Given the description of an element on the screen output the (x, y) to click on. 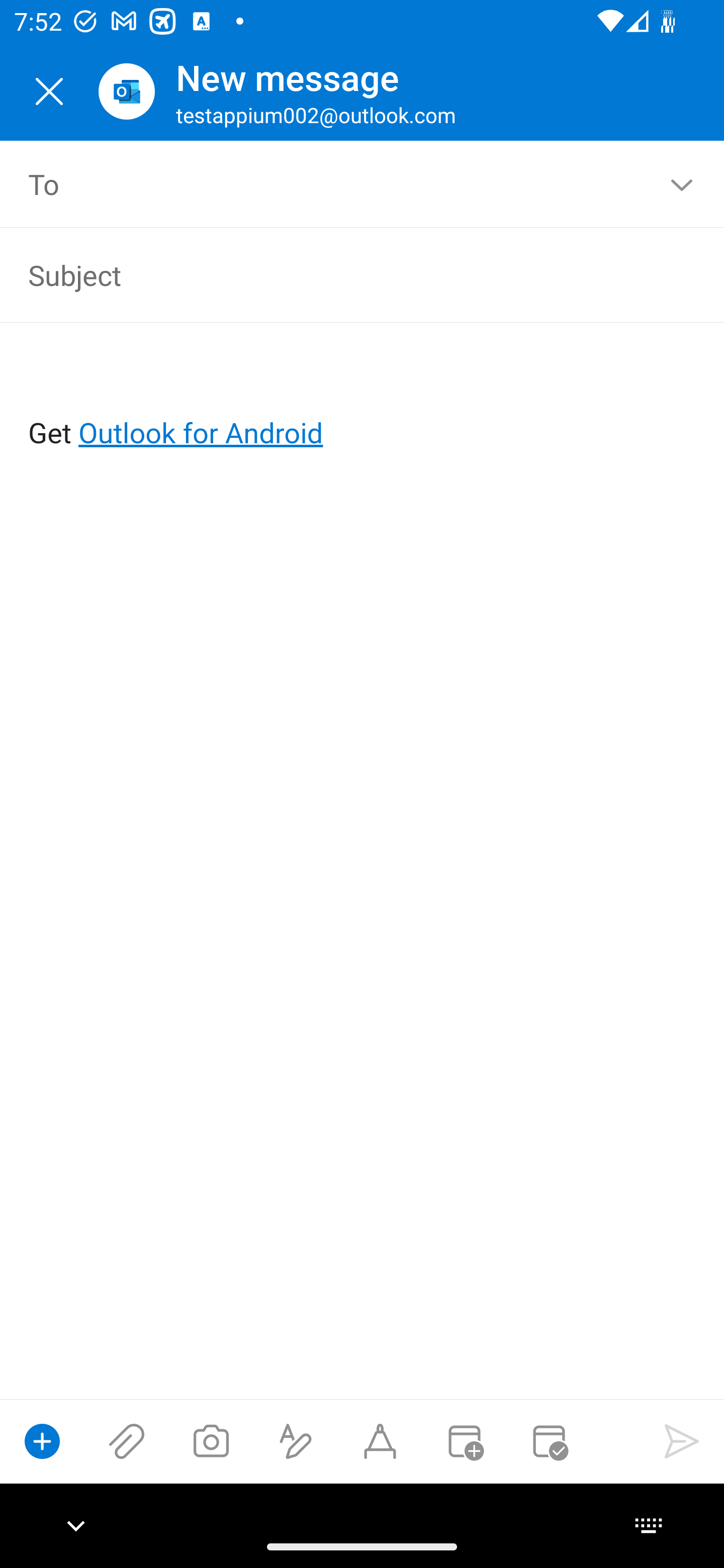
Close (49, 91)
Subject (333, 274)
Show compose options (42, 1440)
Attach files (126, 1440)
Take a photo (210, 1440)
Show formatting options (295, 1440)
Start Ink compose (380, 1440)
Convert to event (464, 1440)
Send availability (548, 1440)
Send (681, 1440)
